Given the description of an element on the screen output the (x, y) to click on. 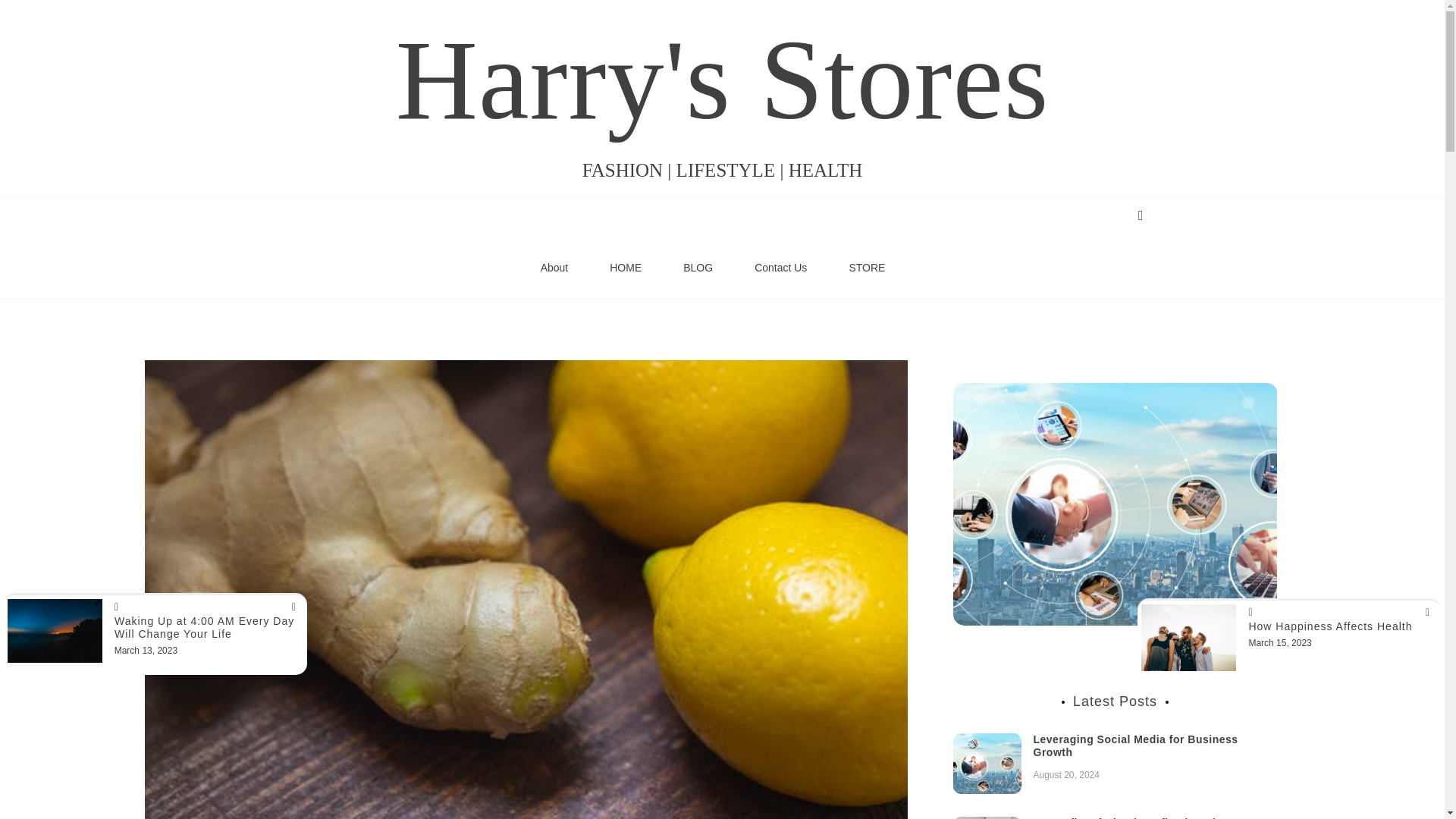
STORE (866, 267)
Contact Us (780, 267)
STORE (866, 267)
Contact Us (780, 267)
Harry's Stores (722, 79)
